Given the description of an element on the screen output the (x, y) to click on. 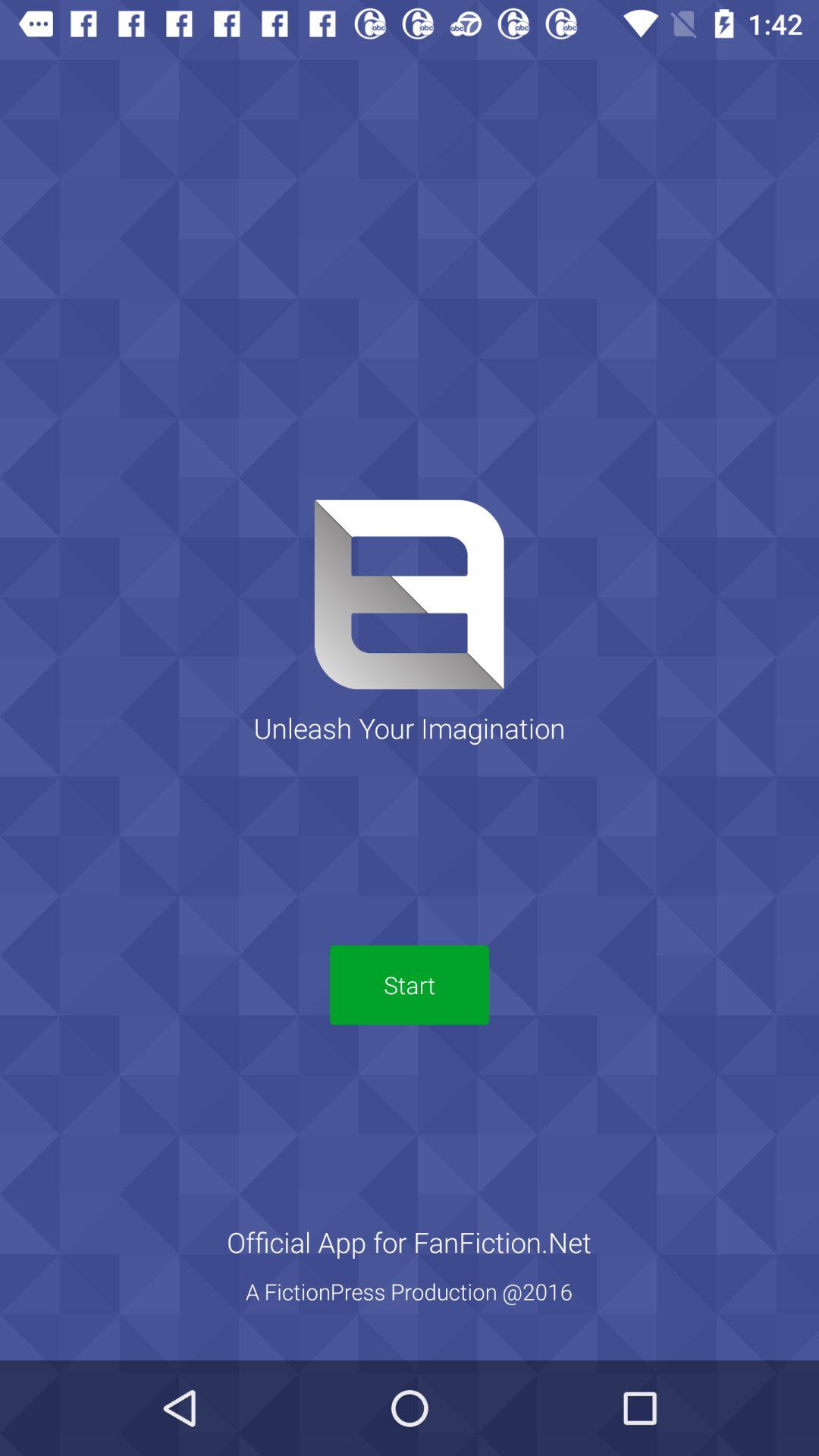
launch item below the unleash your imagination icon (409, 984)
